Given the description of an element on the screen output the (x, y) to click on. 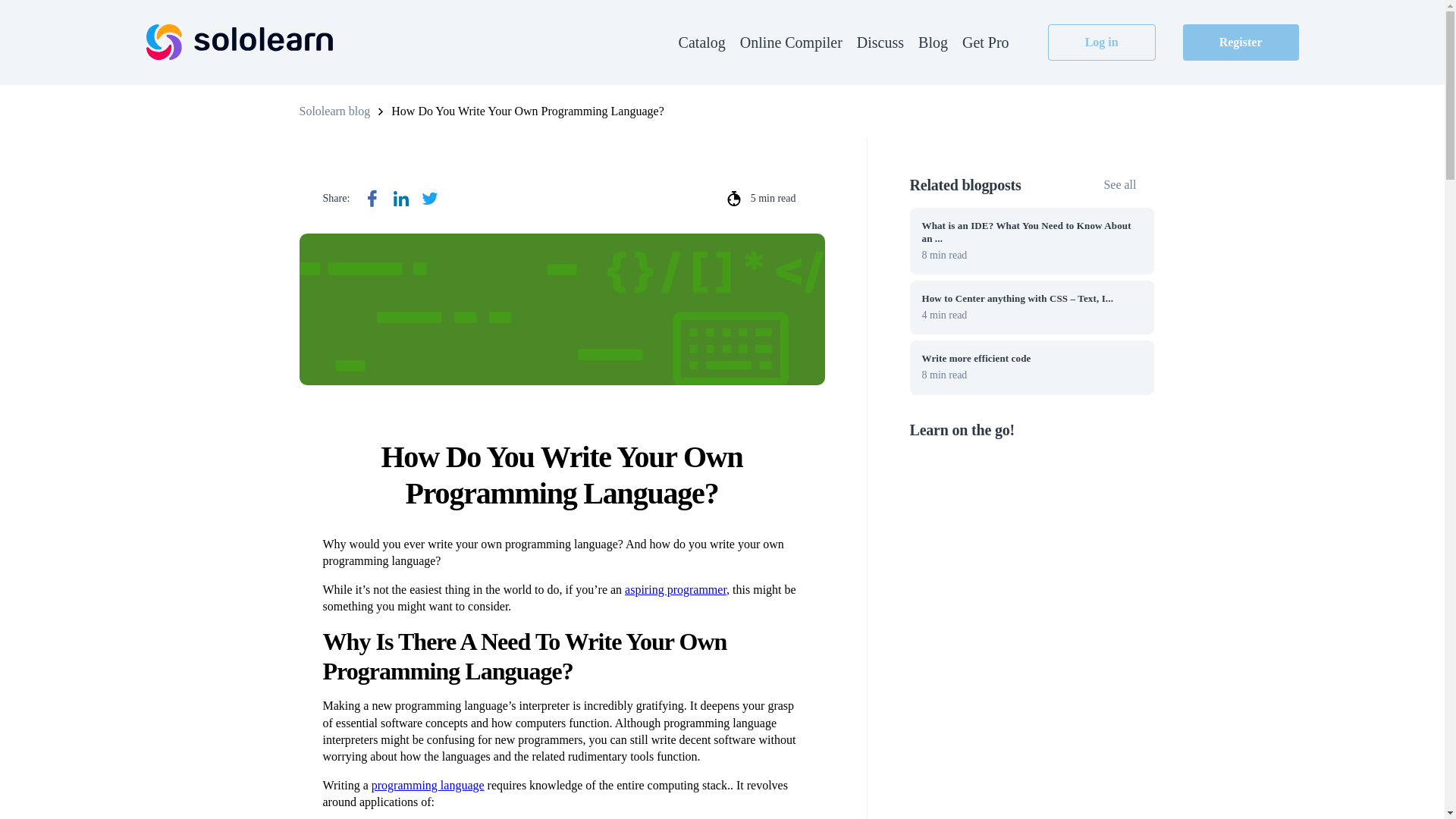
Blog (932, 42)
Discuss (880, 42)
Register (1240, 42)
Online Compiler (1032, 366)
See all (791, 42)
Get Pro (1128, 184)
Go to Sololearn. (985, 42)
Log in (333, 110)
